Given the description of an element on the screen output the (x, y) to click on. 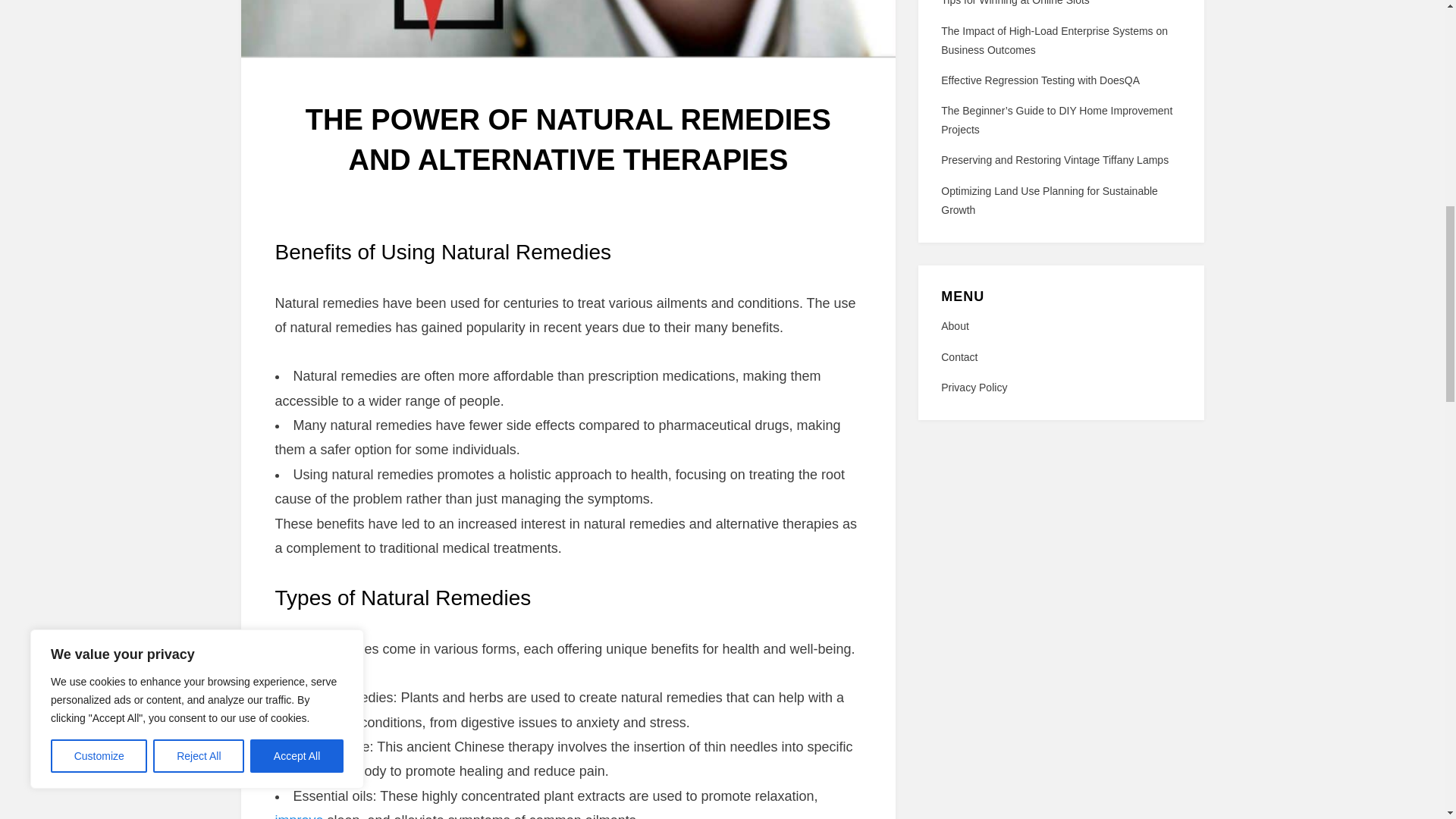
improve (299, 816)
